Given the description of an element on the screen output the (x, y) to click on. 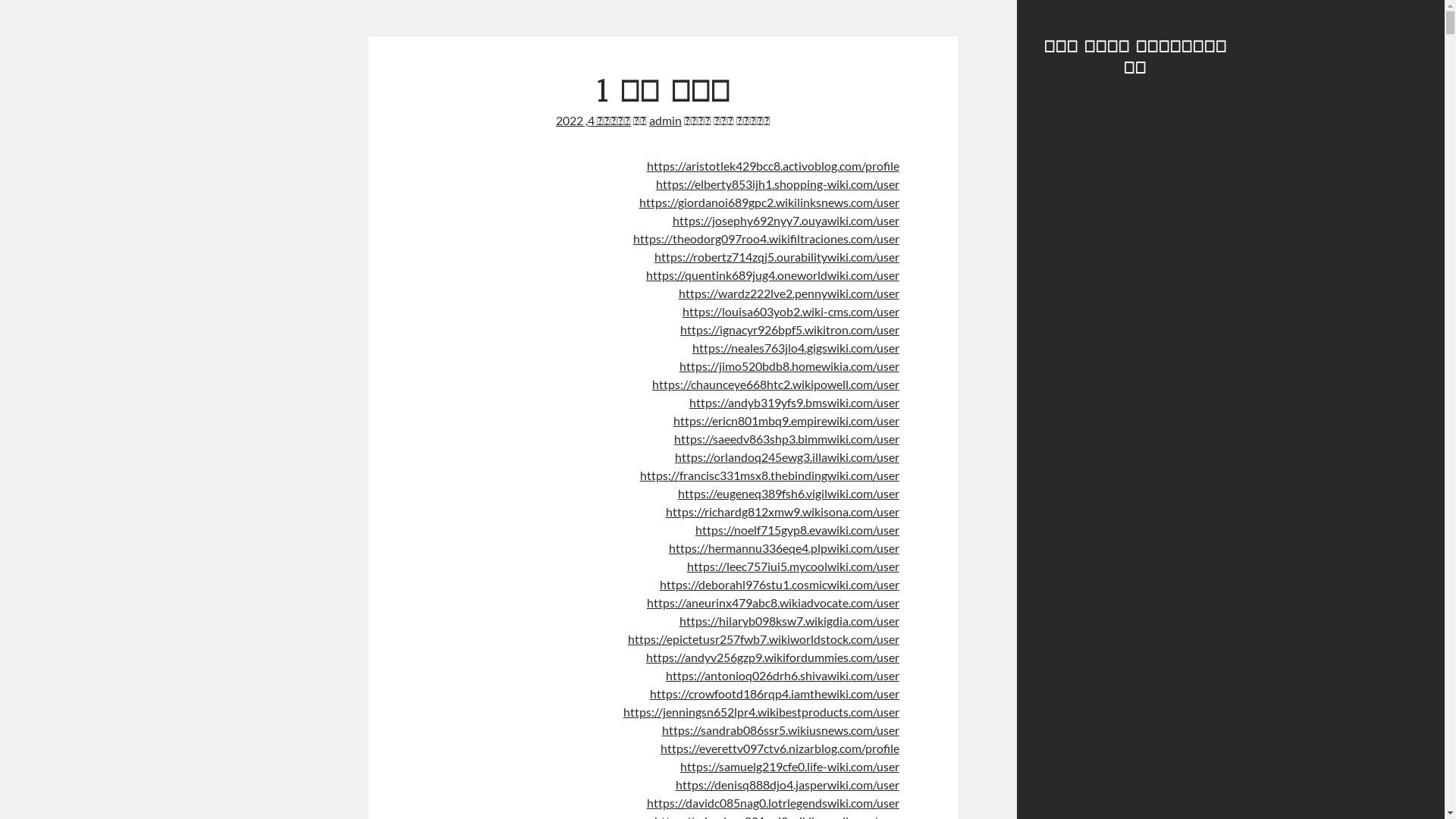
https://robertz714zqj5.ourabilitywiki.com/user Element type: text (776, 256)
https://denisq888djo4.jasperwiki.com/user Element type: text (787, 784)
https://antonioq026drh6.shivawiki.com/user Element type: text (782, 675)
https://saeedv863shp3.bimmwiki.com/user Element type: text (786, 438)
https://noelf715gyp8.evawiki.com/user Element type: text (797, 529)
https://richardg812xmw9.wikisona.com/user Element type: text (782, 511)
https://sandrab086ssr5.wikiusnews.com/user Element type: text (780, 729)
https://ericn801mbq9.empirewiki.com/user Element type: text (786, 420)
https://neales763jlo4.gigswiki.com/user Element type: text (795, 347)
https://giordanoi689gpc2.wikilinksnews.com/user Element type: text (769, 201)
https://crowfootd186rqp4.iamthewiki.com/user Element type: text (774, 693)
https://theodorg097roo4.wikifiltraciones.com/user Element type: text (766, 238)
https://elberty853ijh1.shopping-wiki.com/user Element type: text (777, 183)
https://samuelg219cfe0.life-wiki.com/user Element type: text (789, 766)
https://hilaryb098ksw7.wikigdia.com/user Element type: text (789, 620)
https://louisa603yob2.wiki-cms.com/user Element type: text (790, 311)
https://ignacyr926bpf5.wikitron.com/user Element type: text (789, 329)
https://aristotlek429bcc8.activoblog.com/profile Element type: text (772, 165)
https://hermannu336eqe4.plpwiki.com/user Element type: text (783, 547)
https://andyv256gzp9.wikifordummies.com/user Element type: text (772, 656)
https://francisc331msx8.thebindingwiki.com/user Element type: text (769, 474)
https://wardz222lve2.pennywiki.com/user Element type: text (788, 292)
https://jimo520bdb8.homewikia.com/user Element type: text (789, 365)
https://eugeneq389fsh6.vigilwiki.com/user Element type: text (788, 493)
https://quentink689jug4.oneworldwiki.com/user Element type: text (772, 274)
https://chaunceye668htc2.wikipowell.com/user Element type: text (775, 383)
https://everettv097ctv6.nizarblog.com/profile Element type: text (779, 747)
https://deborahl976stu1.cosmicwiki.com/user Element type: text (779, 584)
https://leec757iui5.mycoolwiki.com/user Element type: text (793, 565)
https://epictetusr257fwb7.wikiworldstock.com/user Element type: text (763, 638)
https://josephy692nyy7.ouyawiki.com/user Element type: text (785, 220)
https://andyb319yfs9.bmswiki.com/user Element type: text (794, 402)
https://aneurinx479abc8.wikiadvocate.com/user Element type: text (772, 602)
https://jenningsn652lpr4.wikibestproducts.com/user Element type: text (761, 711)
https://davidc085nag0.lotrlegendswiki.com/user Element type: text (772, 802)
https://orlandoq245ewg3.illawiki.com/user Element type: text (786, 456)
admin Element type: text (665, 119)
